Given the description of an element on the screen output the (x, y) to click on. 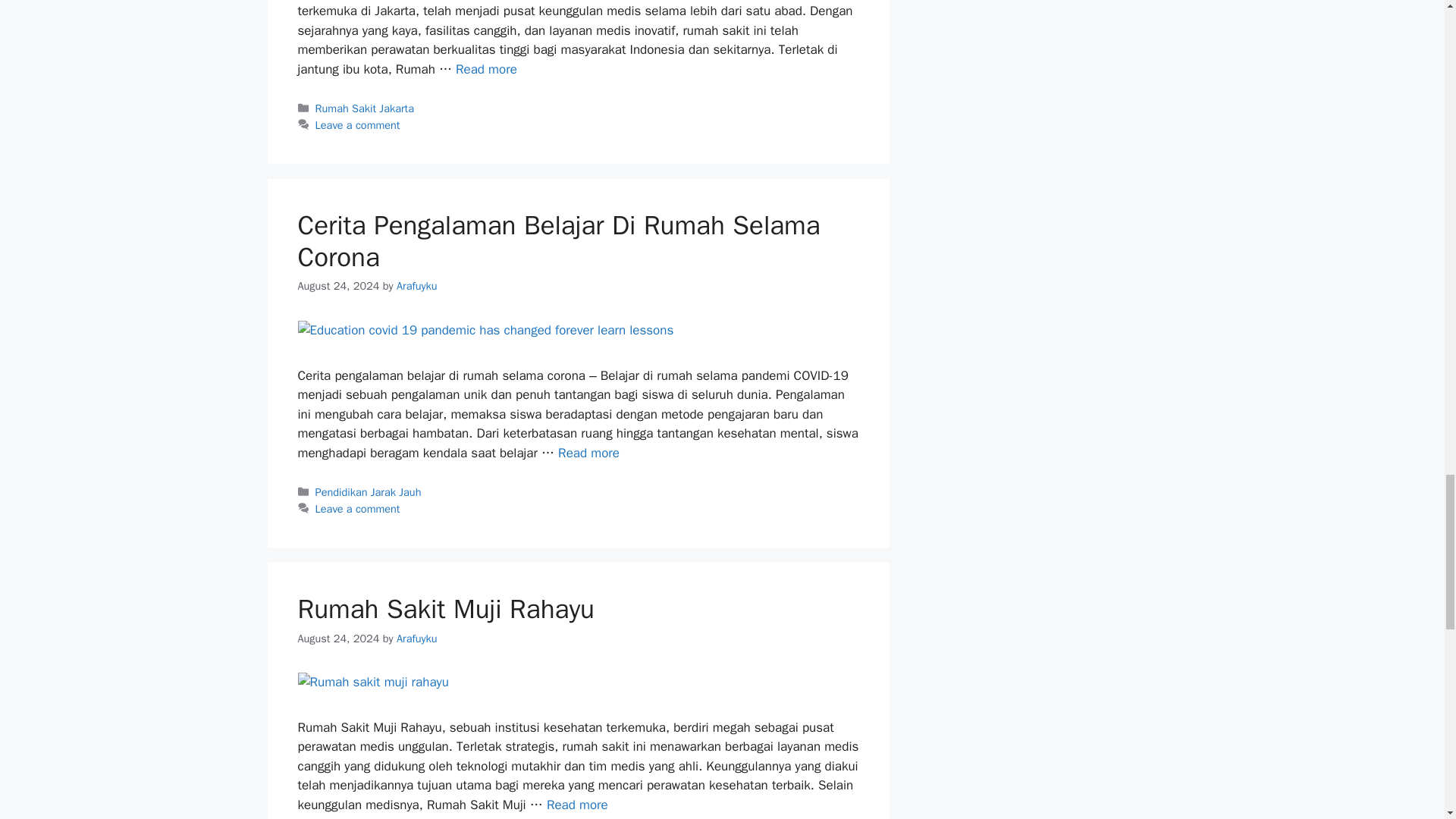
Rumah Sakit Jakarta (364, 108)
Rumah Sakit Tentara Dr Reksodiwiryo (485, 68)
View all posts by Arafuyku (417, 285)
Rumah Sakit Muji Rahayu (577, 804)
Cerita Pengalaman Belajar Di Rumah Selama Corona (588, 453)
Read more (485, 68)
View all posts by Arafuyku (417, 638)
